Given the description of an element on the screen output the (x, y) to click on. 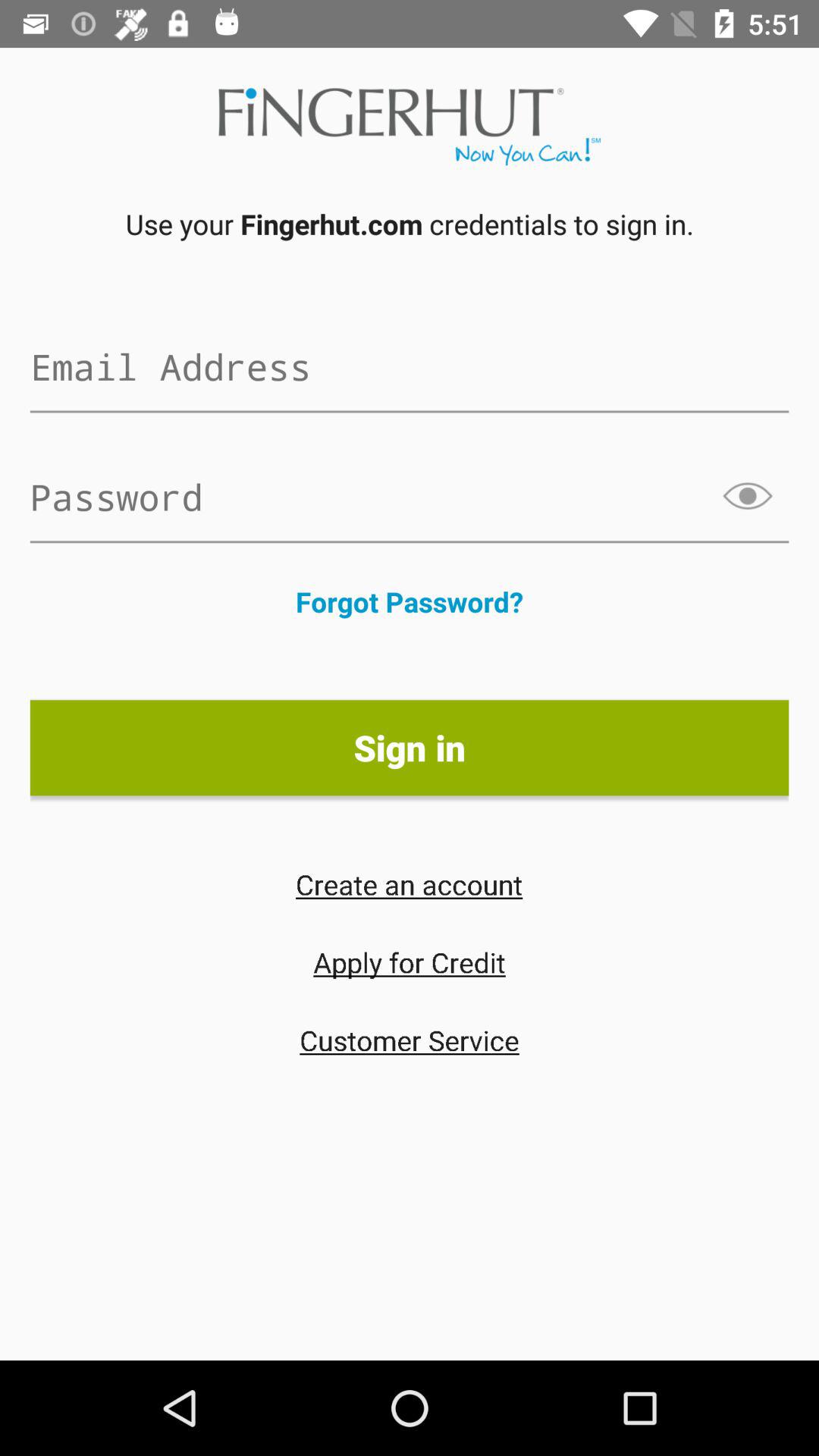
jump until the customer service (409, 1040)
